Given the description of an element on the screen output the (x, y) to click on. 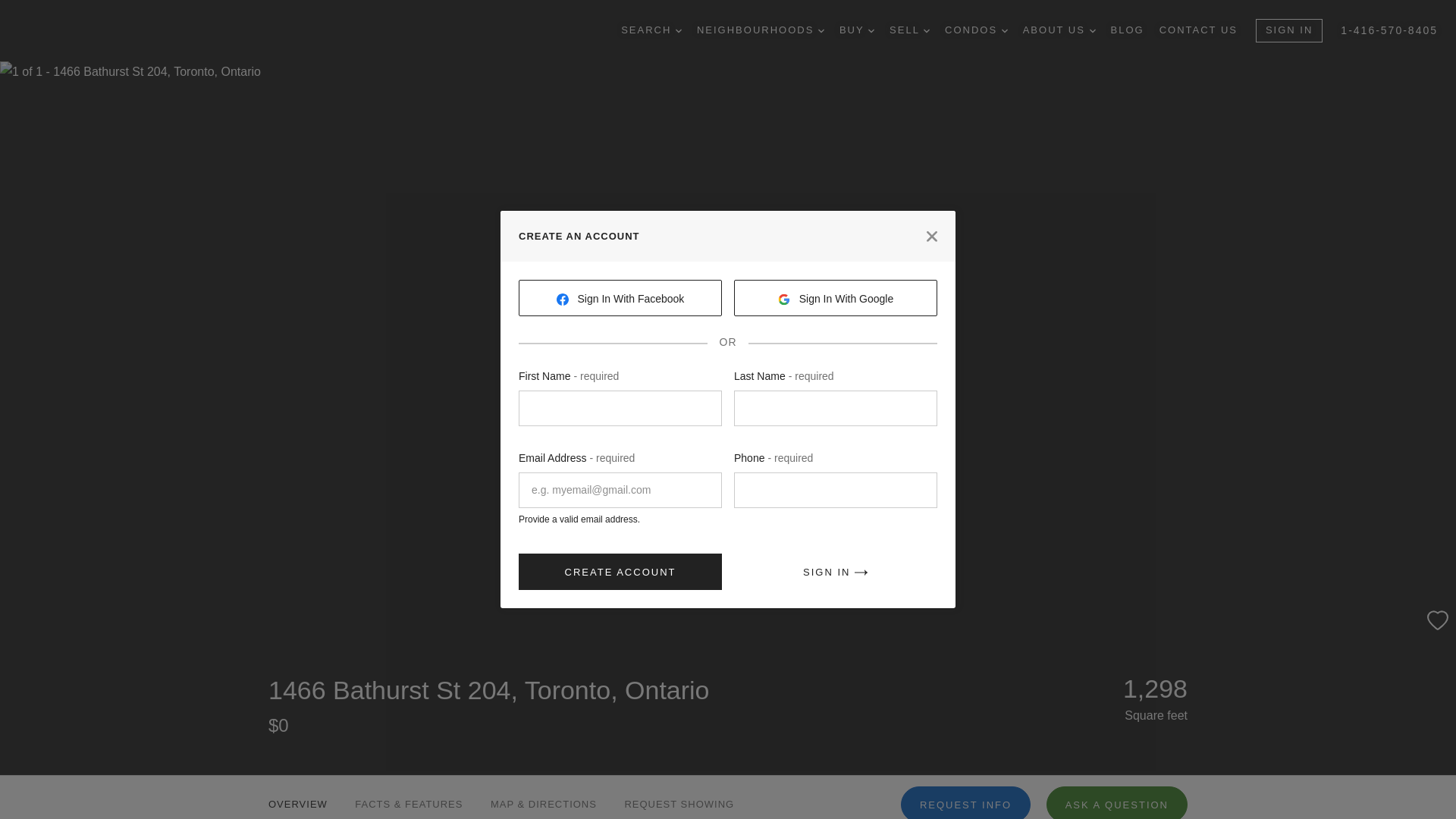
DROPDOWN ARROW (871, 30)
DROPDOWN ARROW (1092, 30)
DROPDOWN ARROW (678, 30)
SEARCH DROPDOWN ARROW (651, 30)
DROPDOWN ARROW (821, 30)
DROPDOWN ARROW (926, 30)
BUY DROPDOWN ARROW (857, 30)
DROPDOWN ARROW (1004, 30)
NEIGHBOURHOODS DROPDOWN ARROW (760, 30)
